Given the description of an element on the screen output the (x, y) to click on. 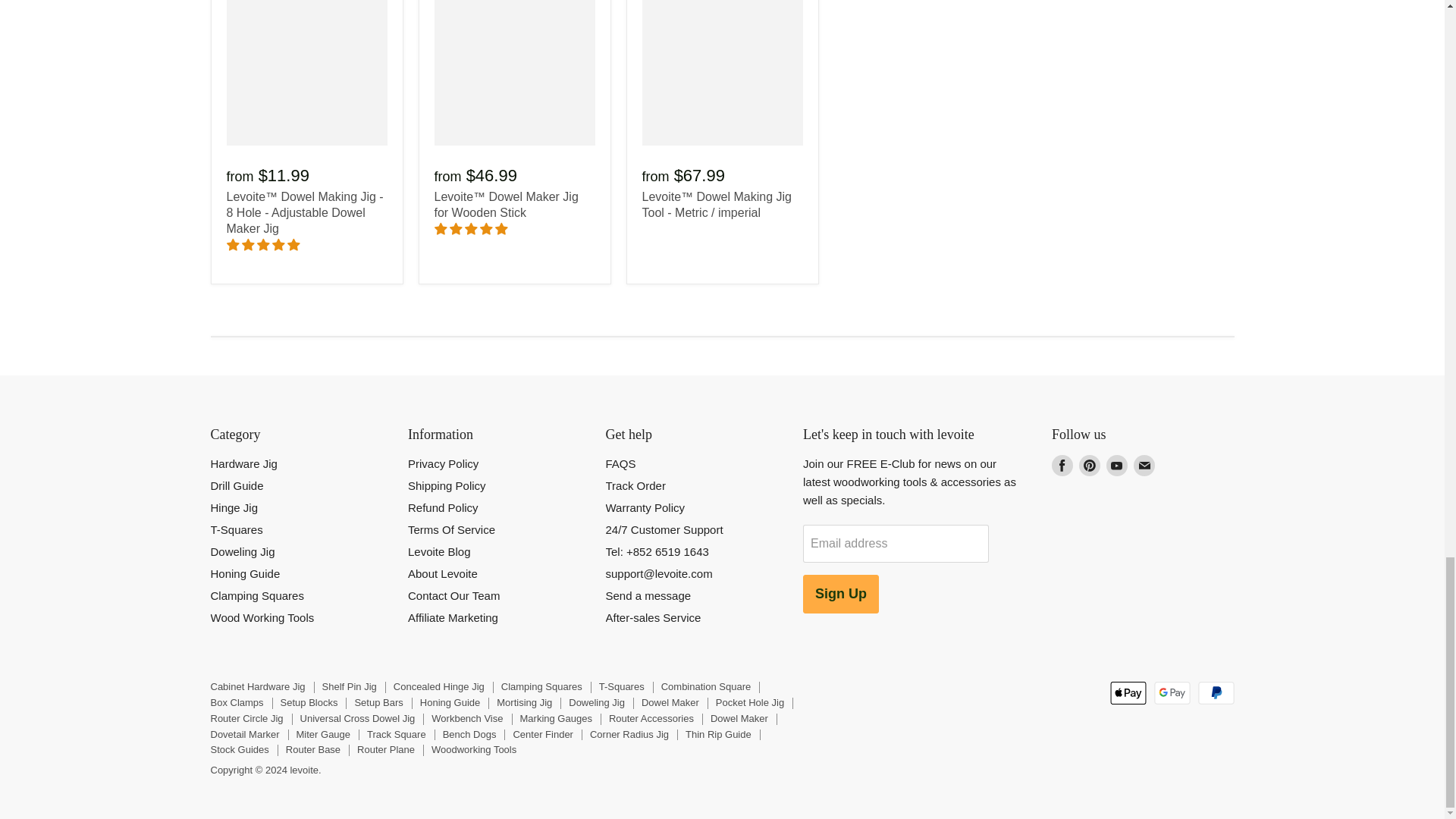
Facebook (1061, 465)
Apple Pay (1128, 692)
Pinterest (1089, 465)
Google Pay (1172, 692)
PayPal (1216, 692)
E-mail (1144, 465)
Youtube (1117, 465)
